Given the description of an element on the screen output the (x, y) to click on. 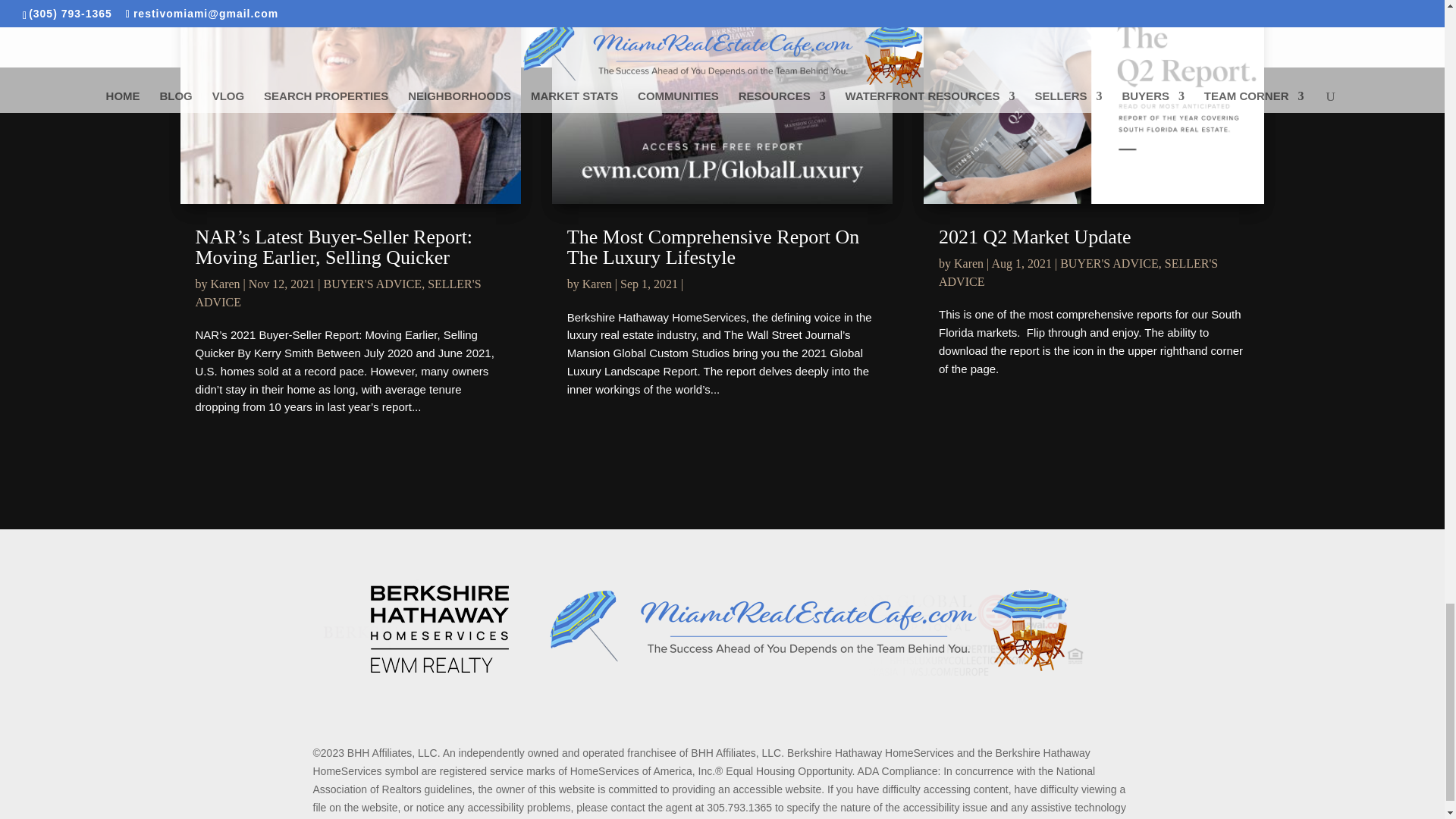
Posts by Karen (225, 283)
Posts by Karen (968, 263)
Posts by Karen (596, 283)
